Given the description of an element on the screen output the (x, y) to click on. 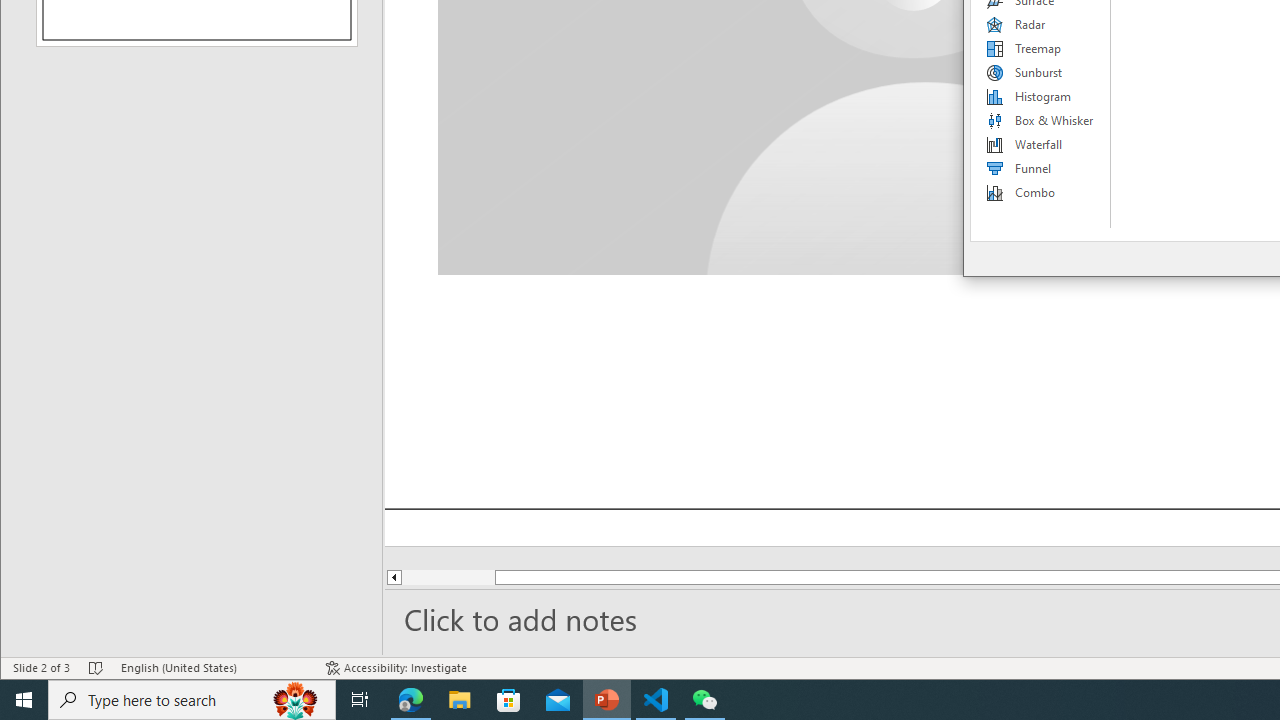
Type here to search (191, 699)
Page up (437, 577)
Sunburst (1041, 72)
Treemap (1041, 48)
WeChat - 1 running window (704, 699)
Accessibility Checker Accessibility: Investigate (395, 668)
Combo (1041, 192)
Microsoft Store (509, 699)
Funnel (1041, 168)
Start (24, 699)
File Explorer (460, 699)
PowerPoint - 1 running window (607, 699)
Search highlights icon opens search home window (295, 699)
Radar (1041, 24)
